Given the description of an element on the screen output the (x, y) to click on. 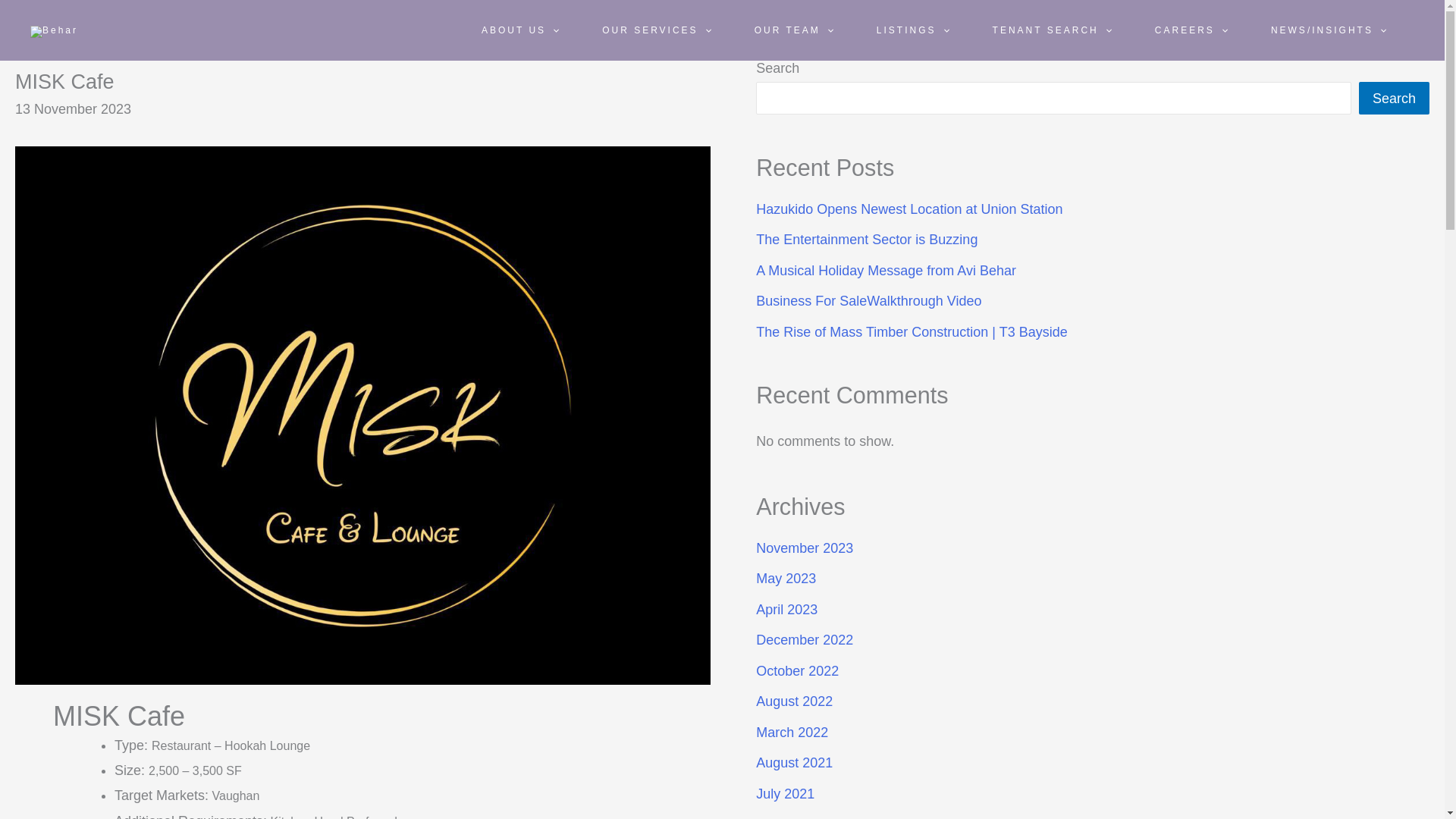
LISTINGS (912, 30)
OUR TEAM (793, 30)
ABOUT US (520, 30)
OUR SERVICES (656, 30)
